Given the description of an element on the screen output the (x, y) to click on. 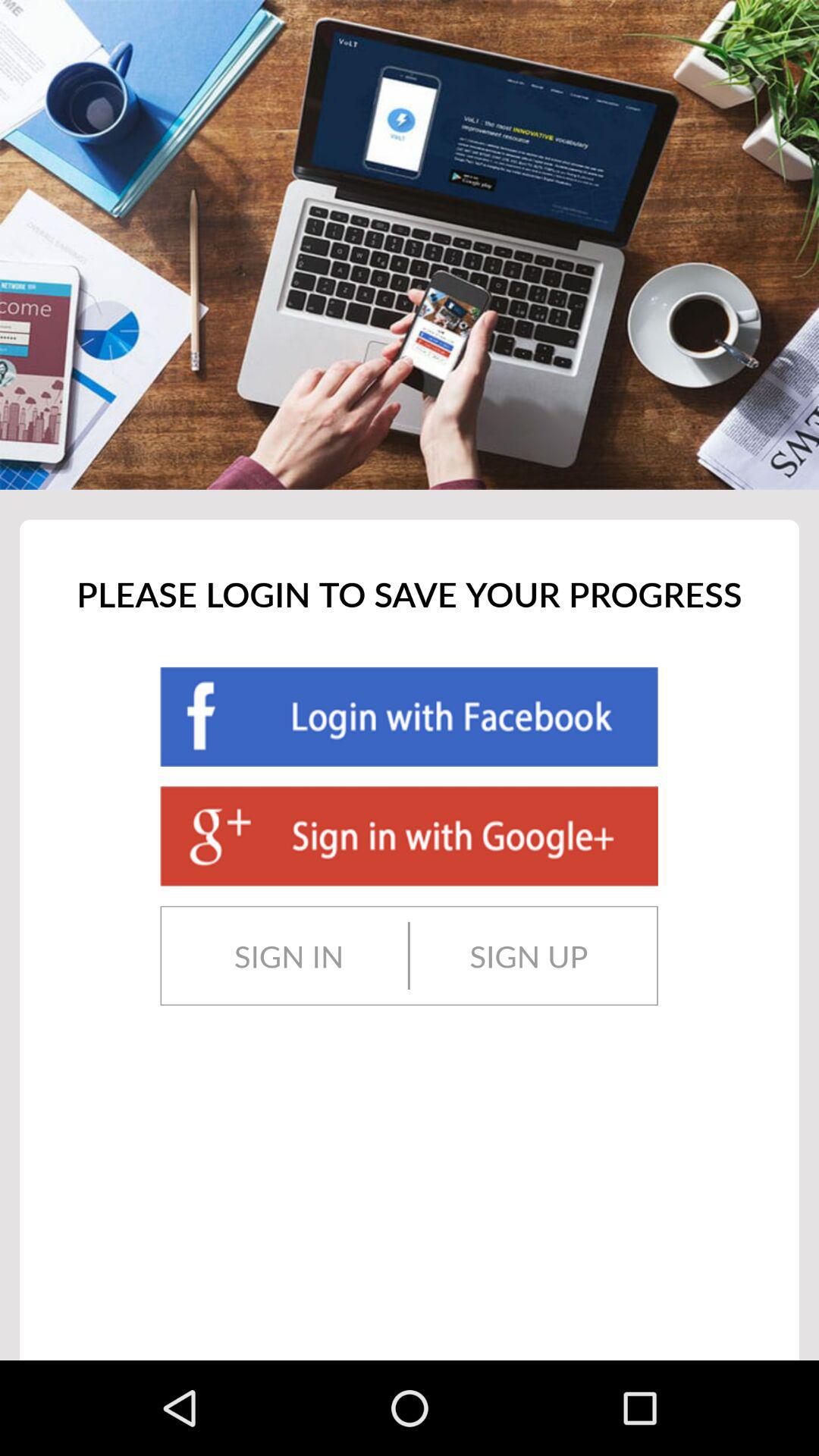
log in (409, 716)
